Given the description of an element on the screen output the (x, y) to click on. 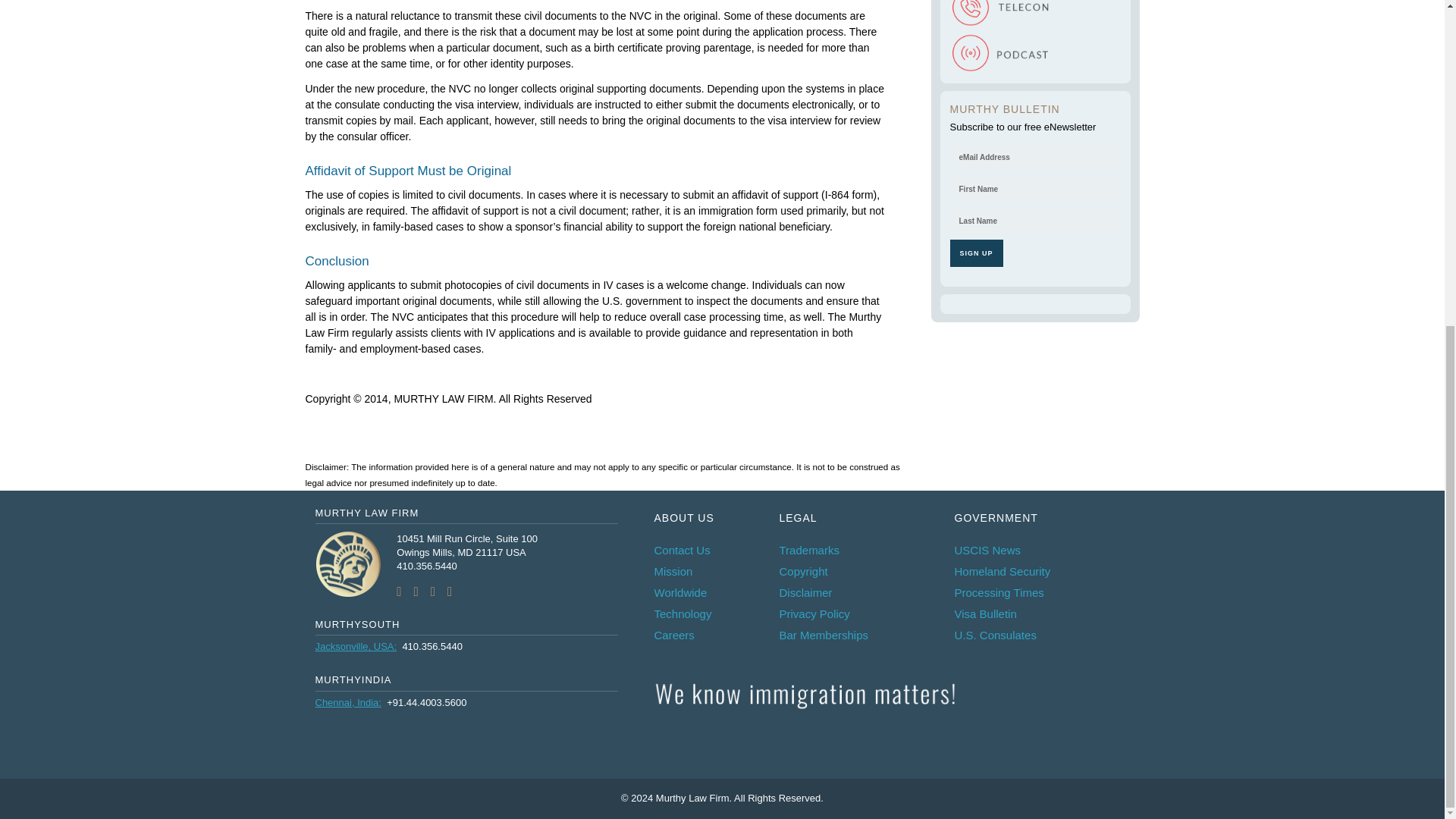
Sign up (976, 252)
